Given the description of an element on the screen output the (x, y) to click on. 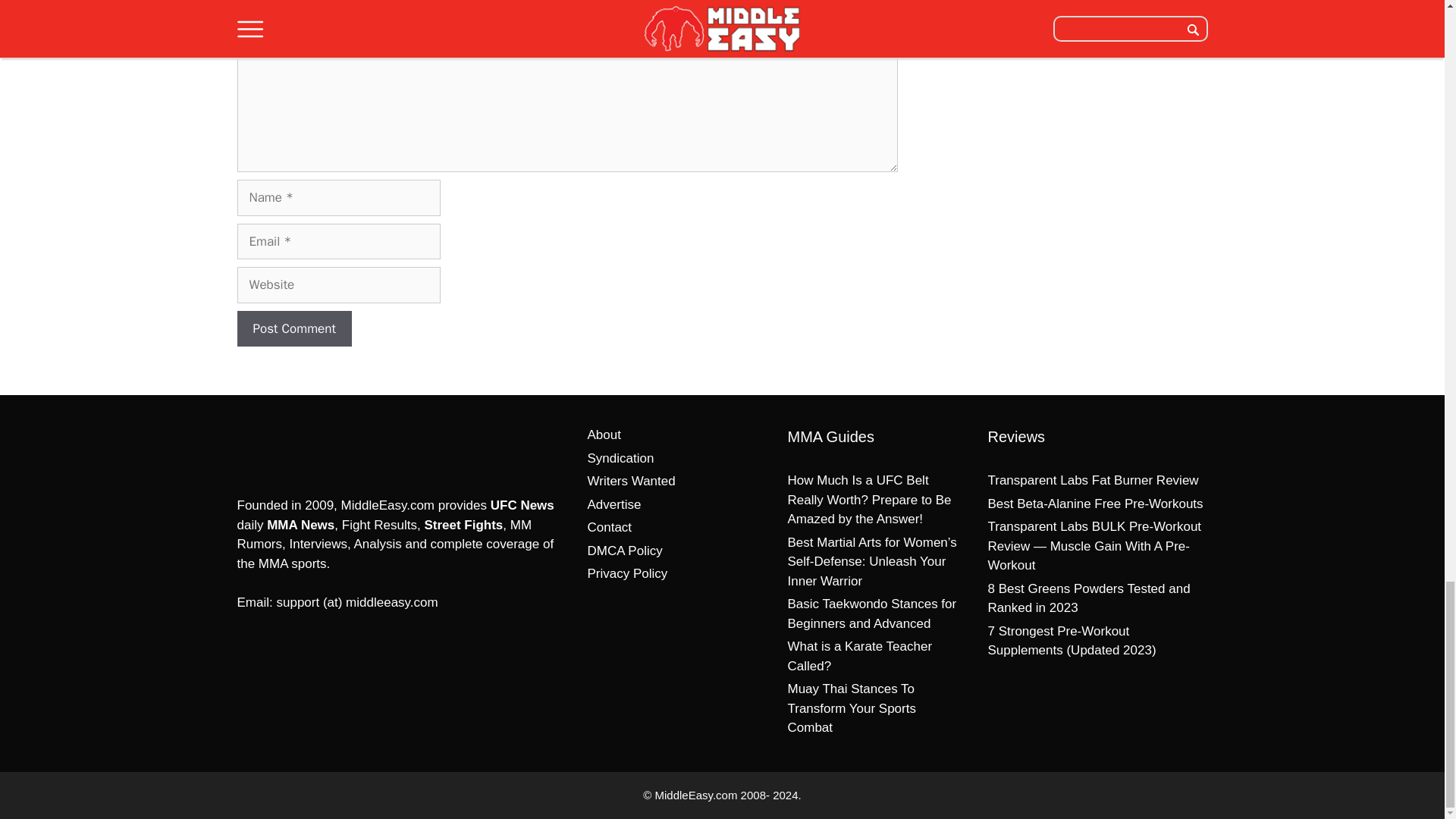
MiddlEeasy: MMA News (314, 447)
Post Comment (292, 329)
